Given the description of an element on the screen output the (x, y) to click on. 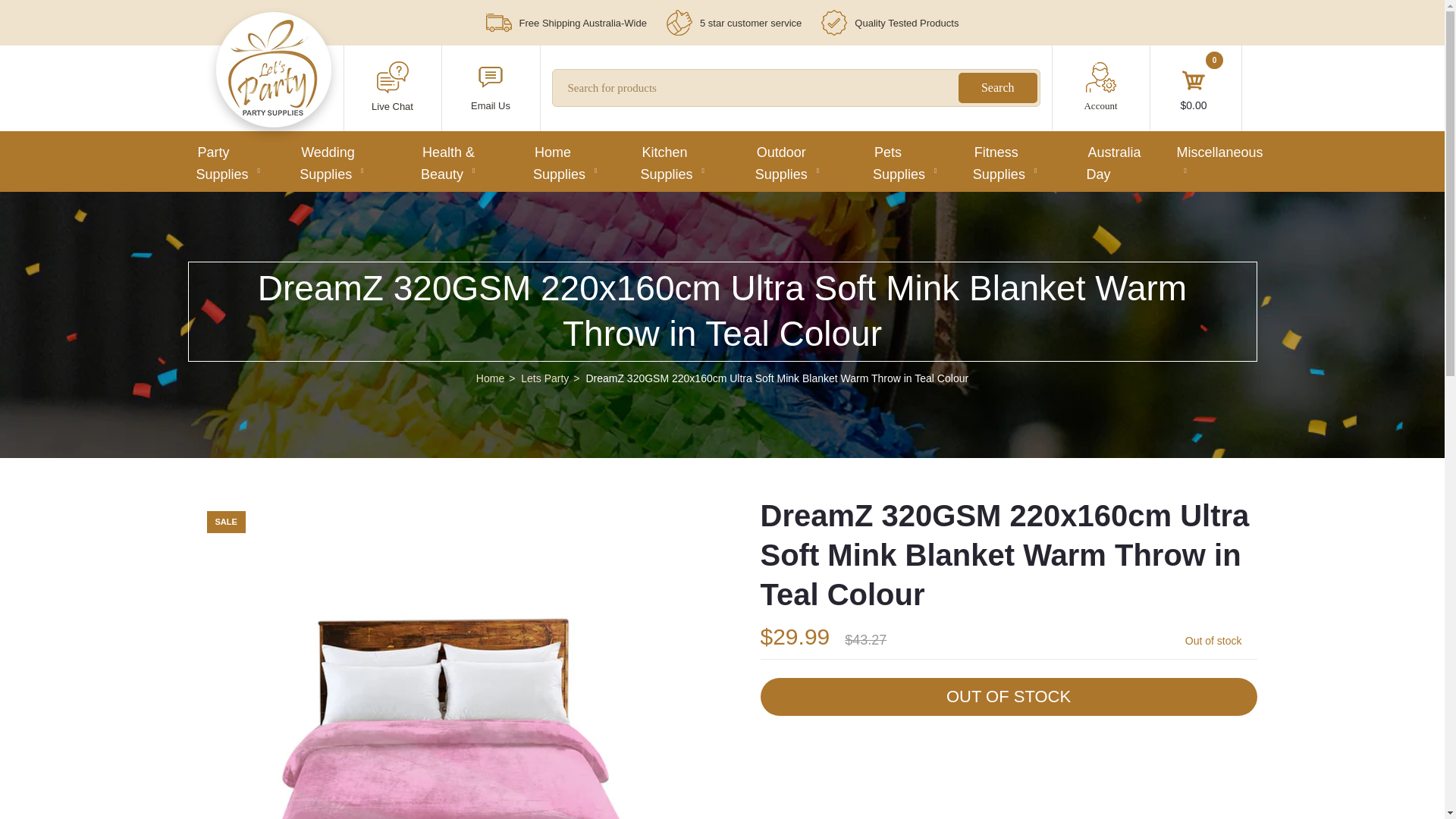
Lets Party (272, 69)
Out of stock (1008, 696)
Lets Party (272, 111)
